Given the description of an element on the screen output the (x, y) to click on. 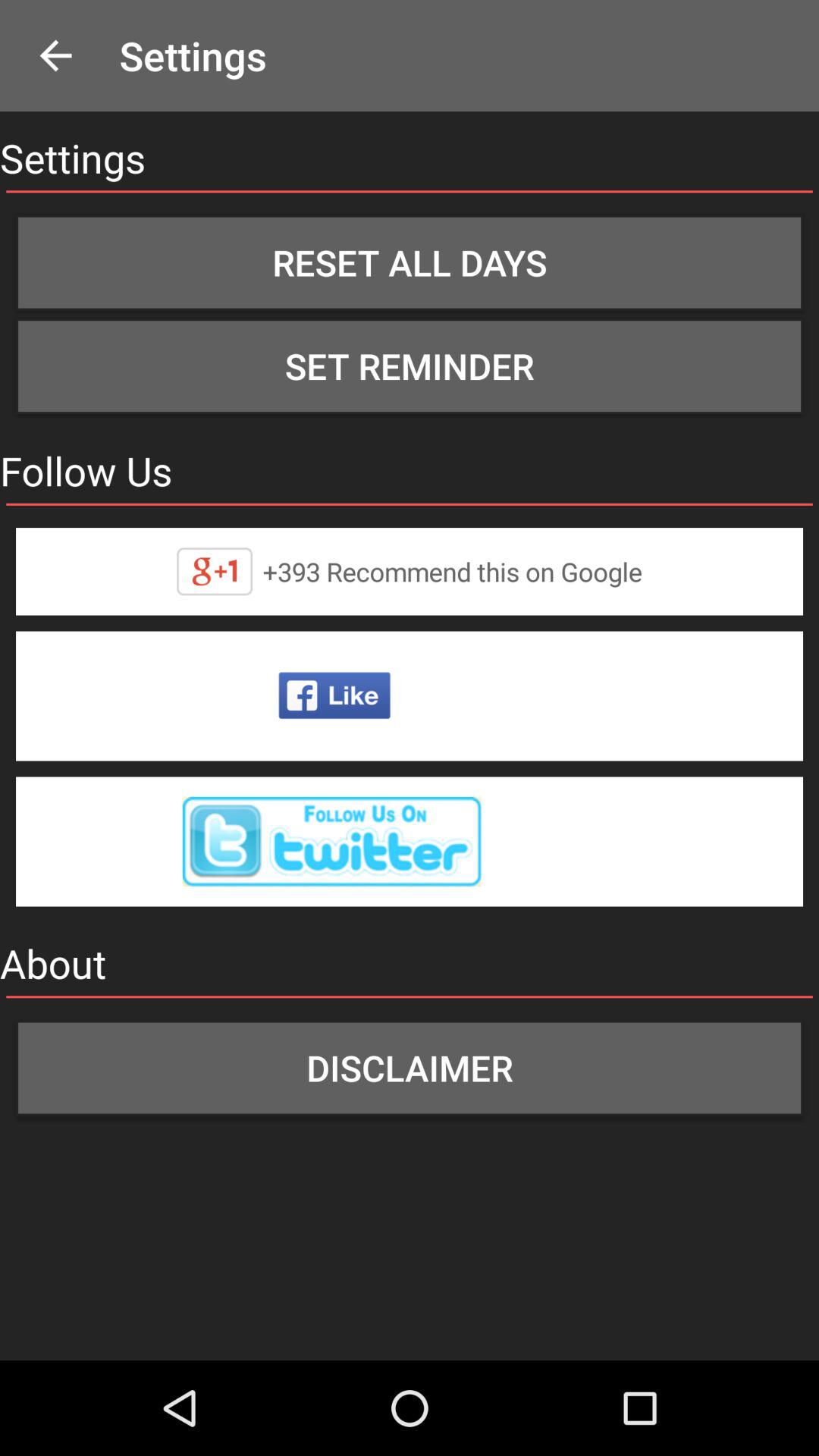
turn on set reminder icon (409, 366)
